Given the description of an element on the screen output the (x, y) to click on. 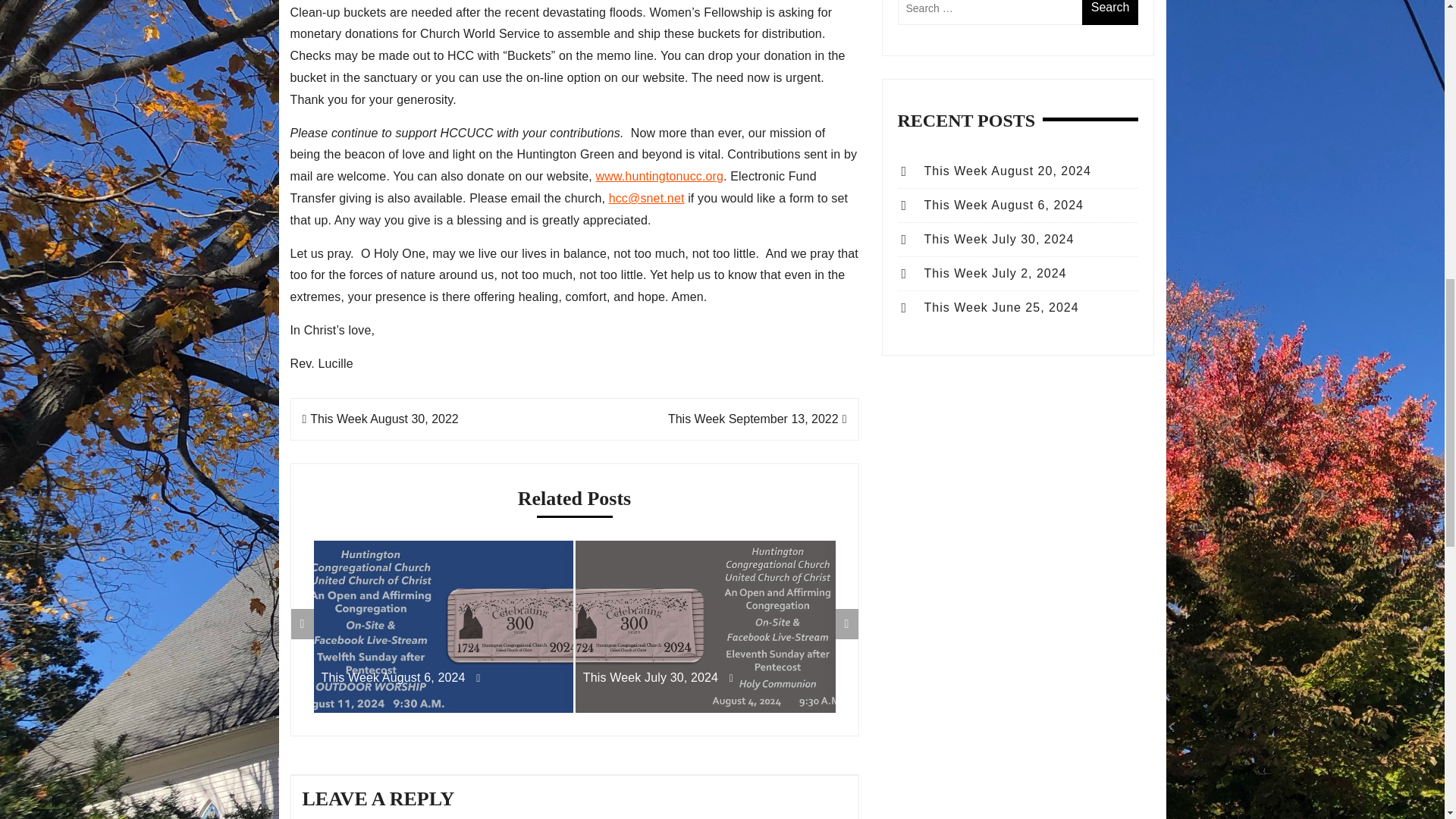
Search (1109, 12)
Search (1109, 12)
This Week August 30, 2022 (379, 418)
This Week July 30, 2024 (705, 677)
This Week September 13, 2022 (757, 418)
This Week August 6, 2024 (443, 677)
www.huntingtonucc.org (659, 175)
